Given the description of an element on the screen output the (x, y) to click on. 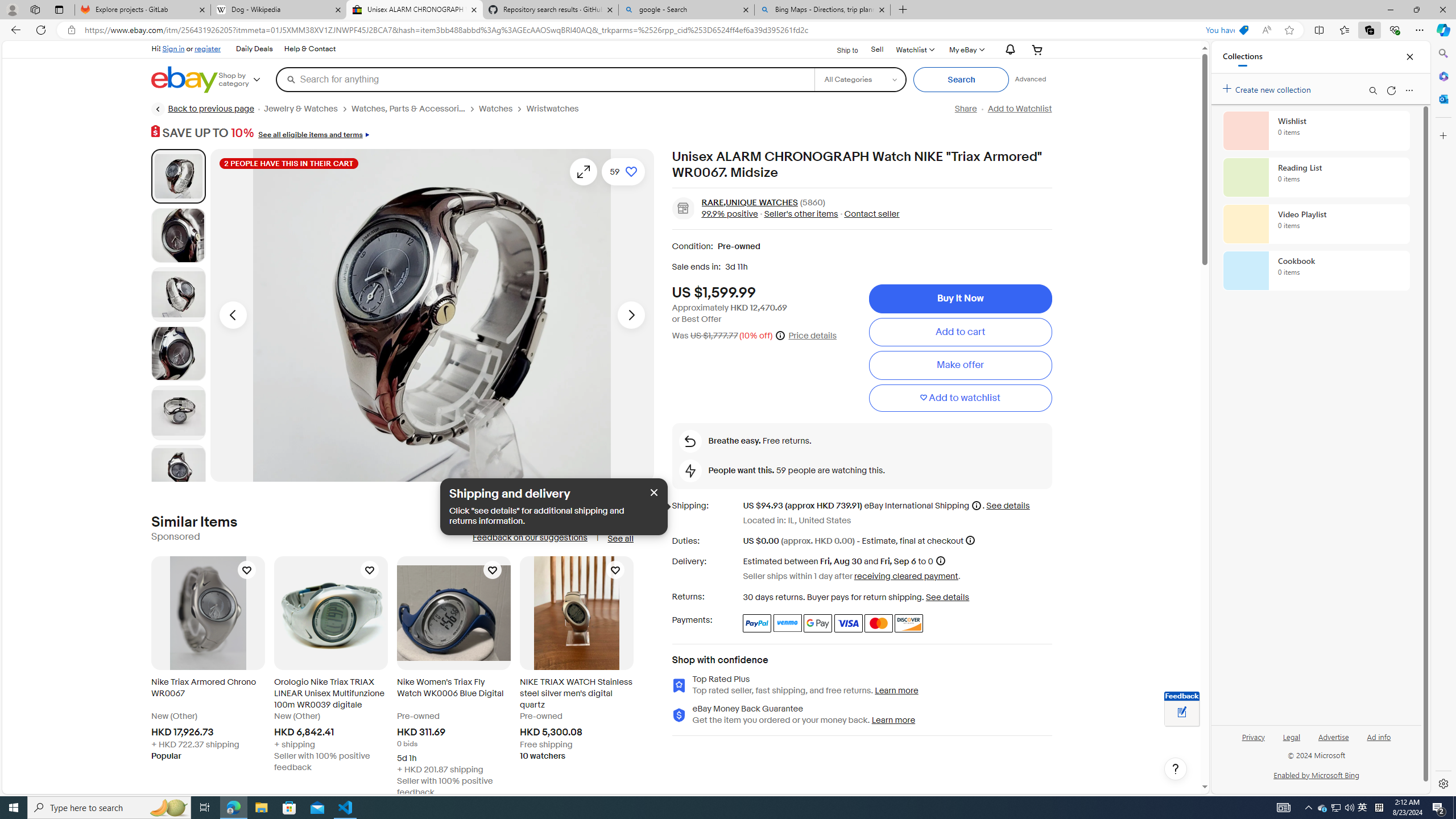
Picture 6 of 18 (178, 471)
Help, opens dialogs (1175, 768)
99.9% positive (729, 213)
AutomationID: gh-eb-Alerts (1008, 49)
Picture 6 of 18 (178, 471)
Picture 3 of 18 (178, 293)
Jewelry & Watches (300, 108)
Picture 1 of 18 (177, 175)
Help & Contact (309, 49)
Daily Deals (254, 49)
Leave feedback about your eBay ViewItem experience (1181, 713)
My eBay (966, 49)
